Given the description of an element on the screen output the (x, y) to click on. 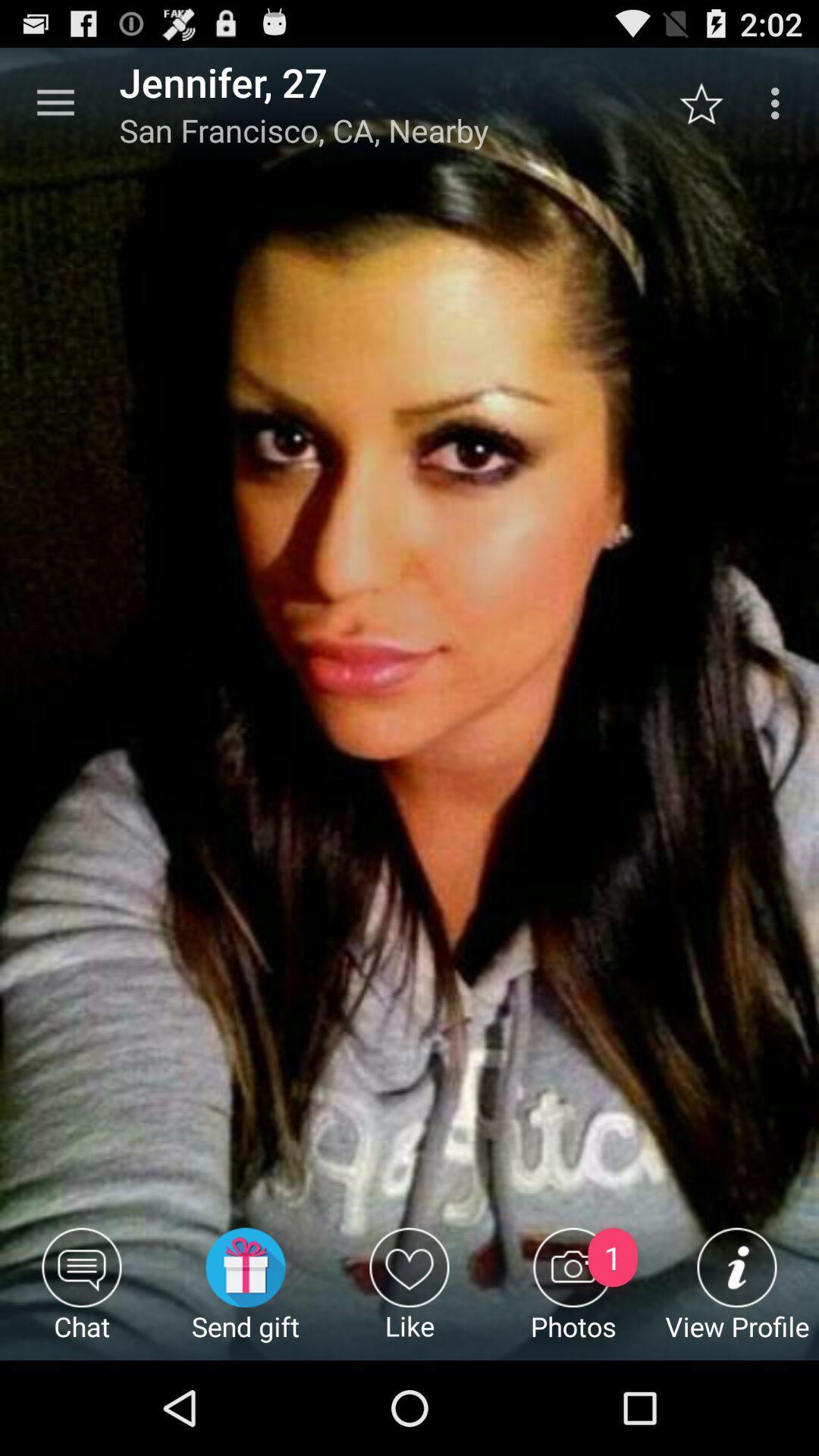
turn on the send gift icon (245, 1293)
